Given the description of an element on the screen output the (x, y) to click on. 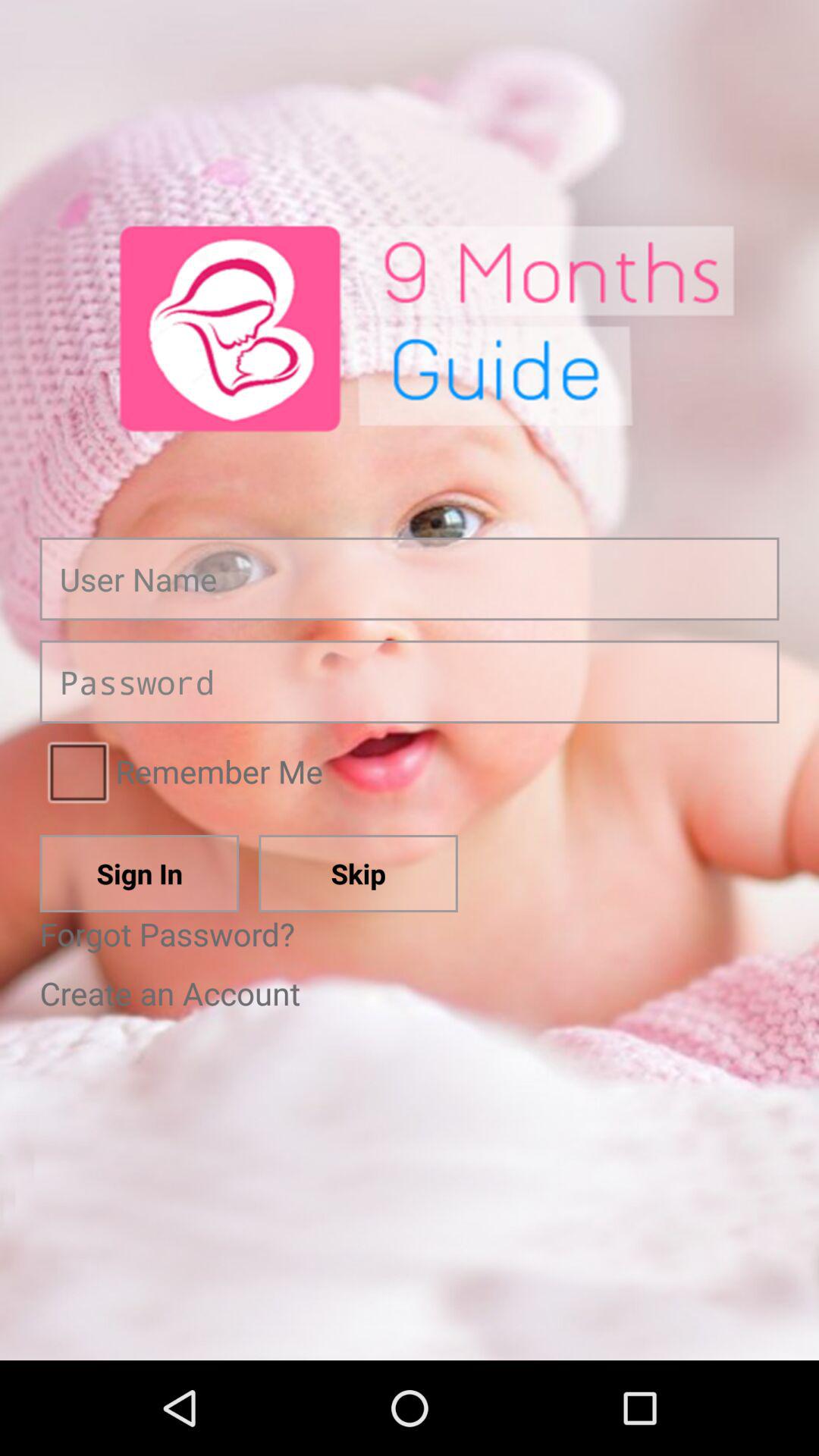
mail adress button (409, 578)
